Given the description of an element on the screen output the (x, y) to click on. 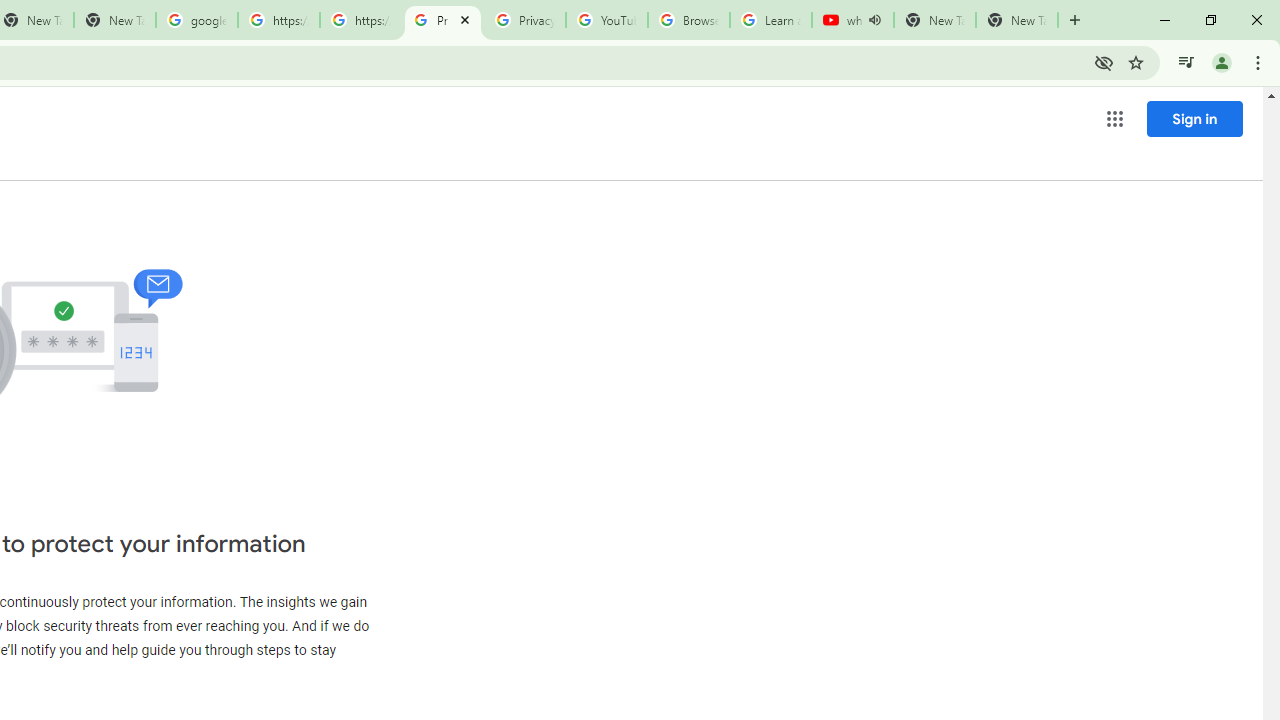
New Tab (1016, 20)
YouTube (606, 20)
https://scholar.google.com/ (278, 20)
https://scholar.google.com/ (360, 20)
